Given the description of an element on the screen output the (x, y) to click on. 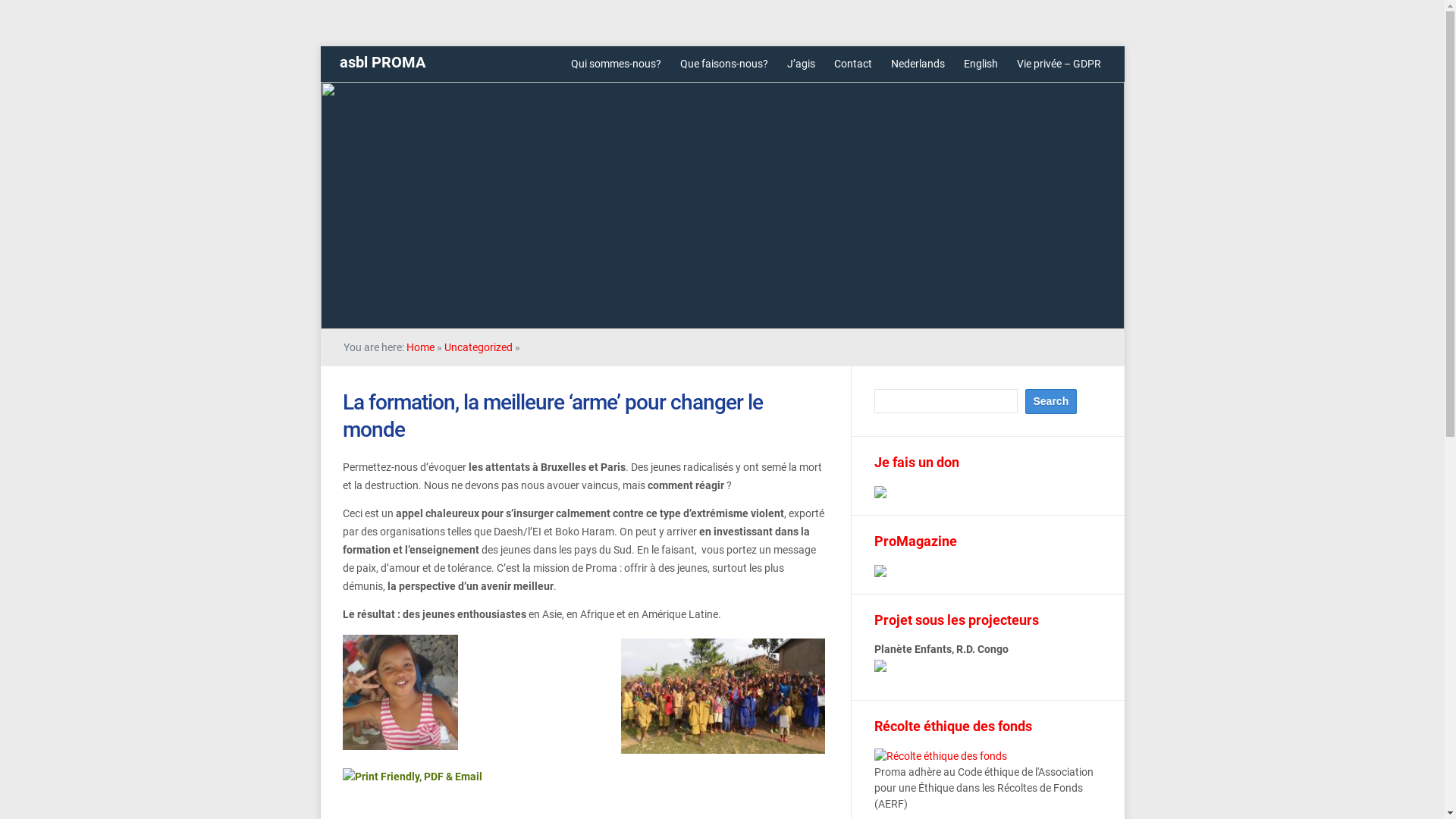
Qui sommes-nous? Element type: text (615, 64)
Uncategorized Element type: text (478, 347)
Nederlands Element type: text (916, 64)
Contact Element type: text (852, 64)
English Element type: text (979, 64)
Home Element type: text (420, 347)
Search Element type: text (1051, 401)
Printer Friendly, PDF & Email Element type: hover (412, 780)
asbl PROMA Element type: text (382, 62)
Que faisons-nous? Element type: text (723, 64)
